Given the description of an element on the screen output the (x, y) to click on. 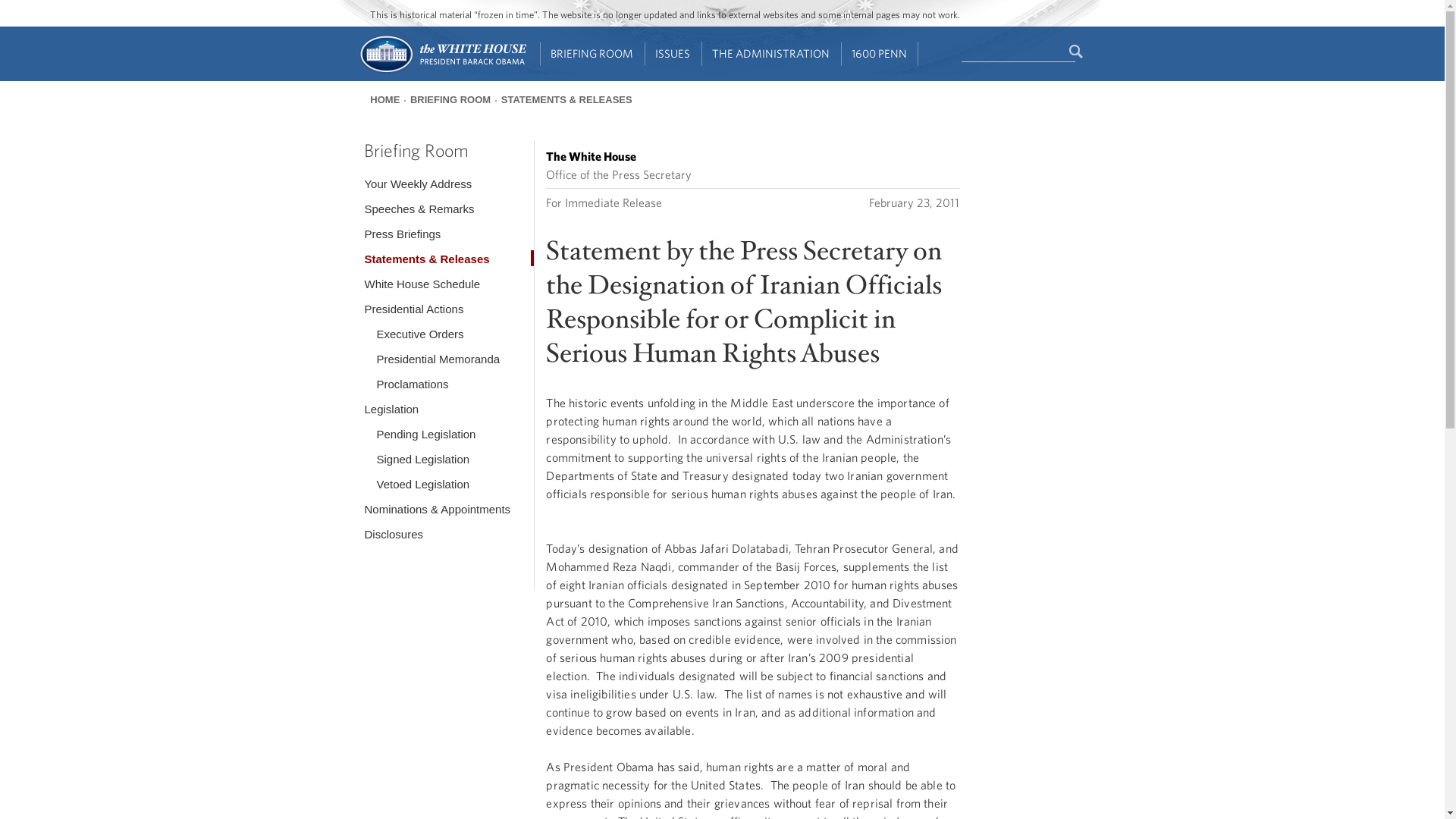
ISSUES (673, 53)
BRIEFING ROOM (592, 53)
Search (1076, 51)
Home (441, 70)
Enter the terms you wish to search for. (1017, 52)
